Given the description of an element on the screen output the (x, y) to click on. 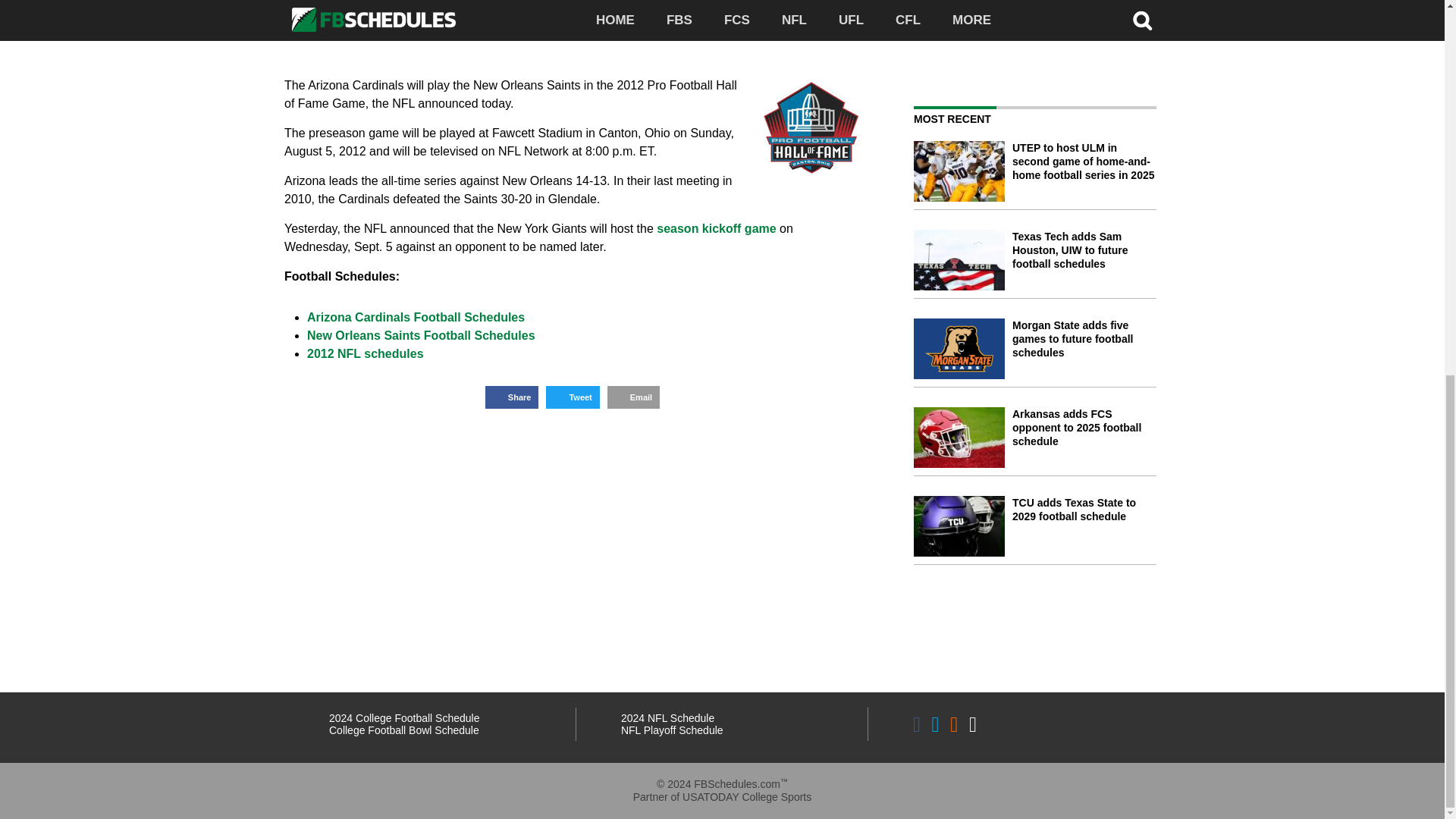
Advertisement (1041, 40)
Pro Football Hall of Fame (810, 127)
Advertisement (571, 32)
